Given the description of an element on the screen output the (x, y) to click on. 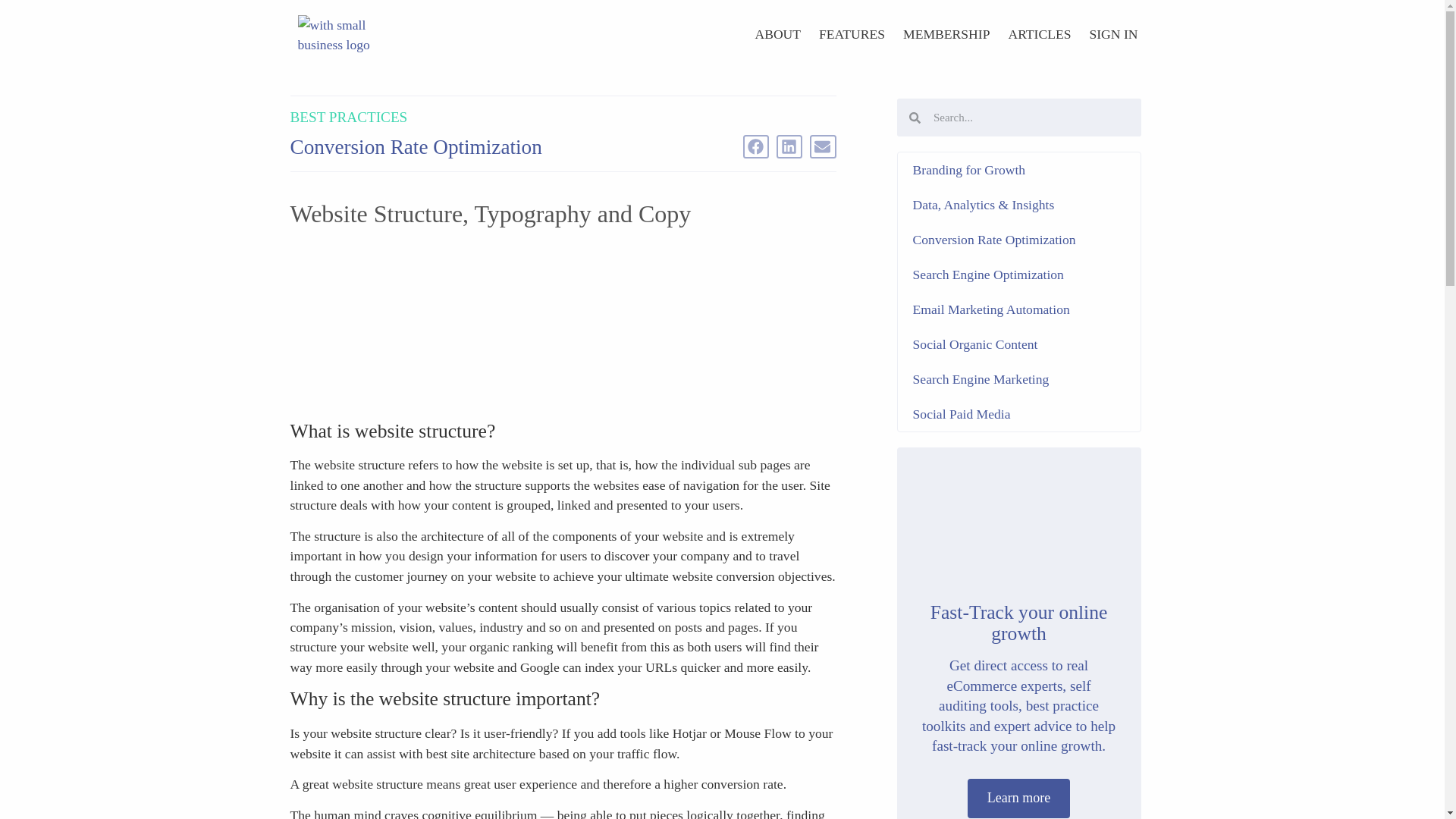
MEMBERSHIP (945, 33)
Search Engine Optimization (1019, 274)
ABOUT (777, 33)
FEATURES (851, 33)
ARTICLES (1039, 33)
Conversion Rate Optimization (1019, 239)
Branding for Growth (1019, 169)
Social Paid Media (1019, 413)
Search Engine Marketing (1019, 378)
SIGN IN (1113, 33)
Email Marketing Automation (1019, 308)
Social Organic Content (1019, 343)
